Given the description of an element on the screen output the (x, y) to click on. 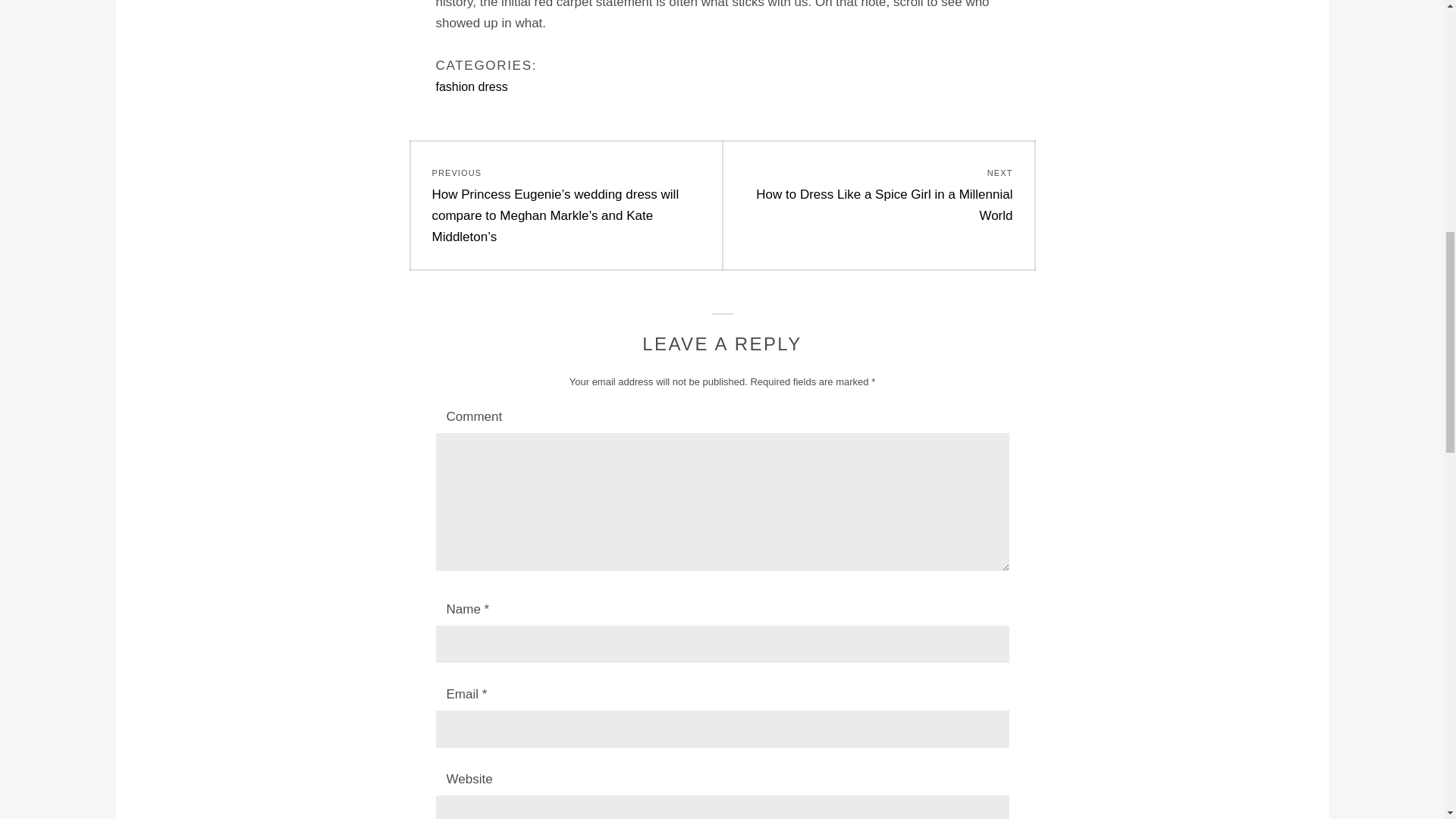
fashion dress (470, 86)
